Given the description of an element on the screen output the (x, y) to click on. 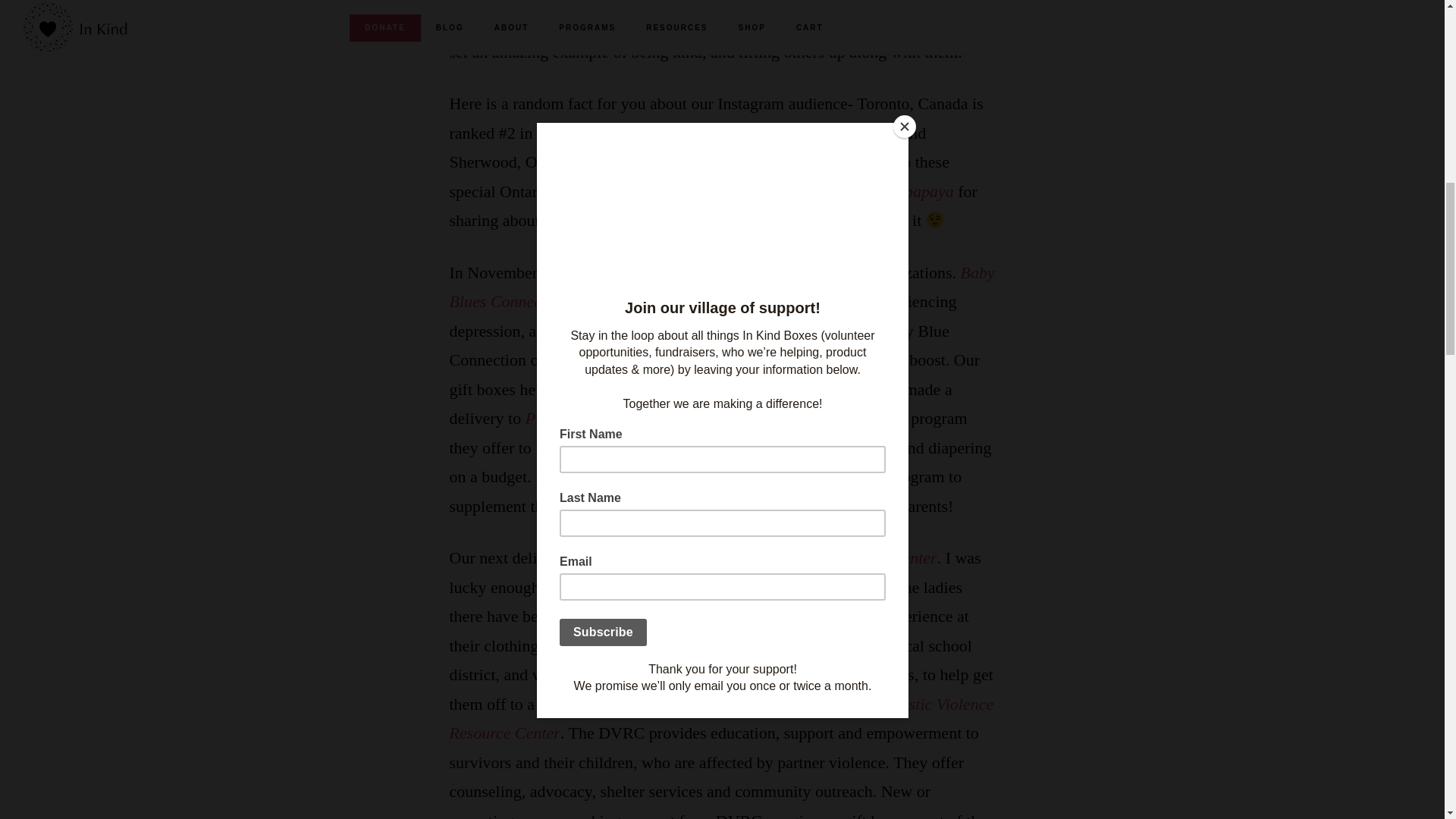
PDX Diaper Bank (586, 417)
Domestic Violence Resource Center (720, 718)
Baby Blues Connection (721, 287)
SHARE- Sherwood Family Resource Center (790, 557)
